Given the description of an element on the screen output the (x, y) to click on. 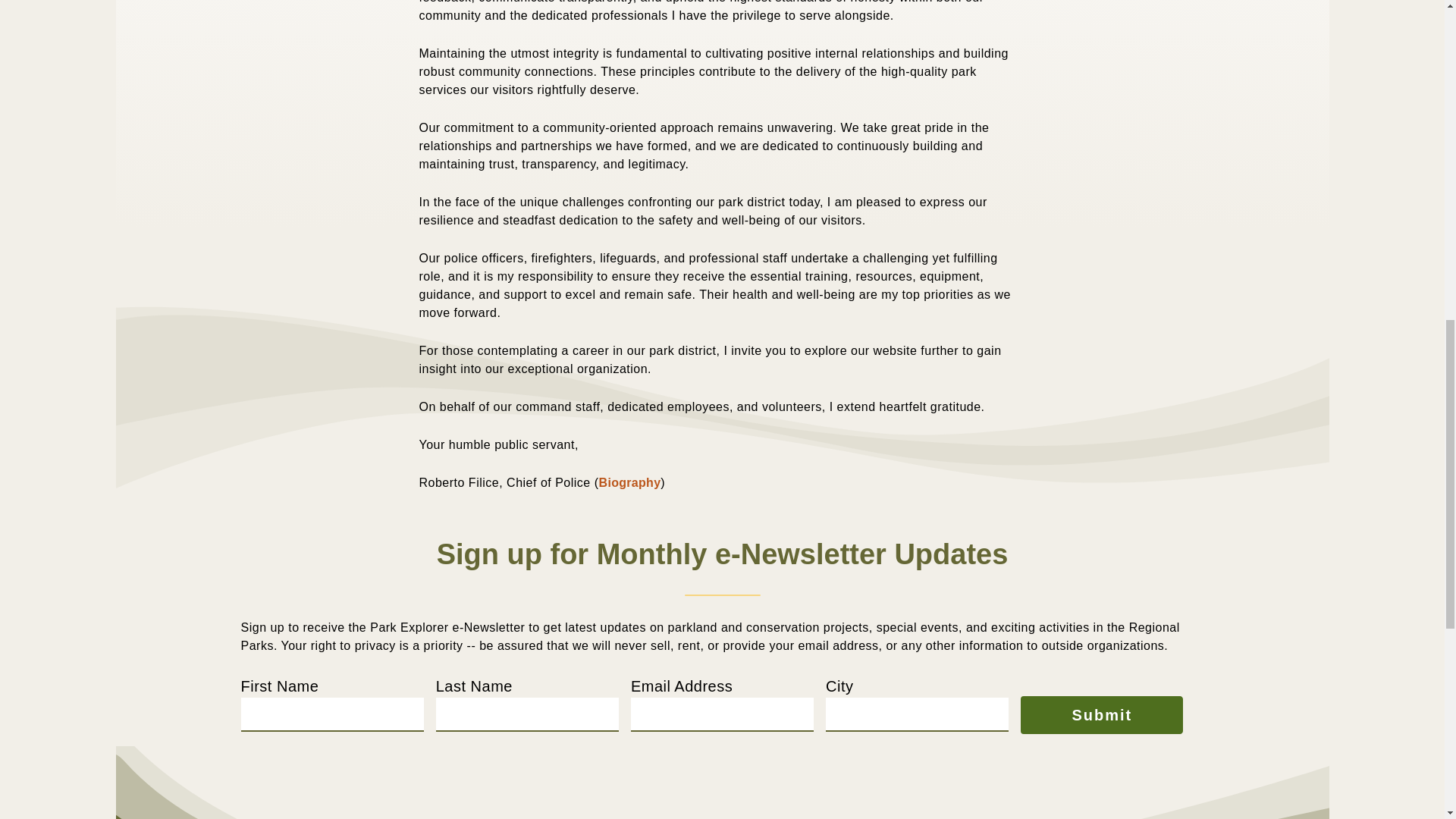
Submit (1101, 714)
